Given the description of an element on the screen output the (x, y) to click on. 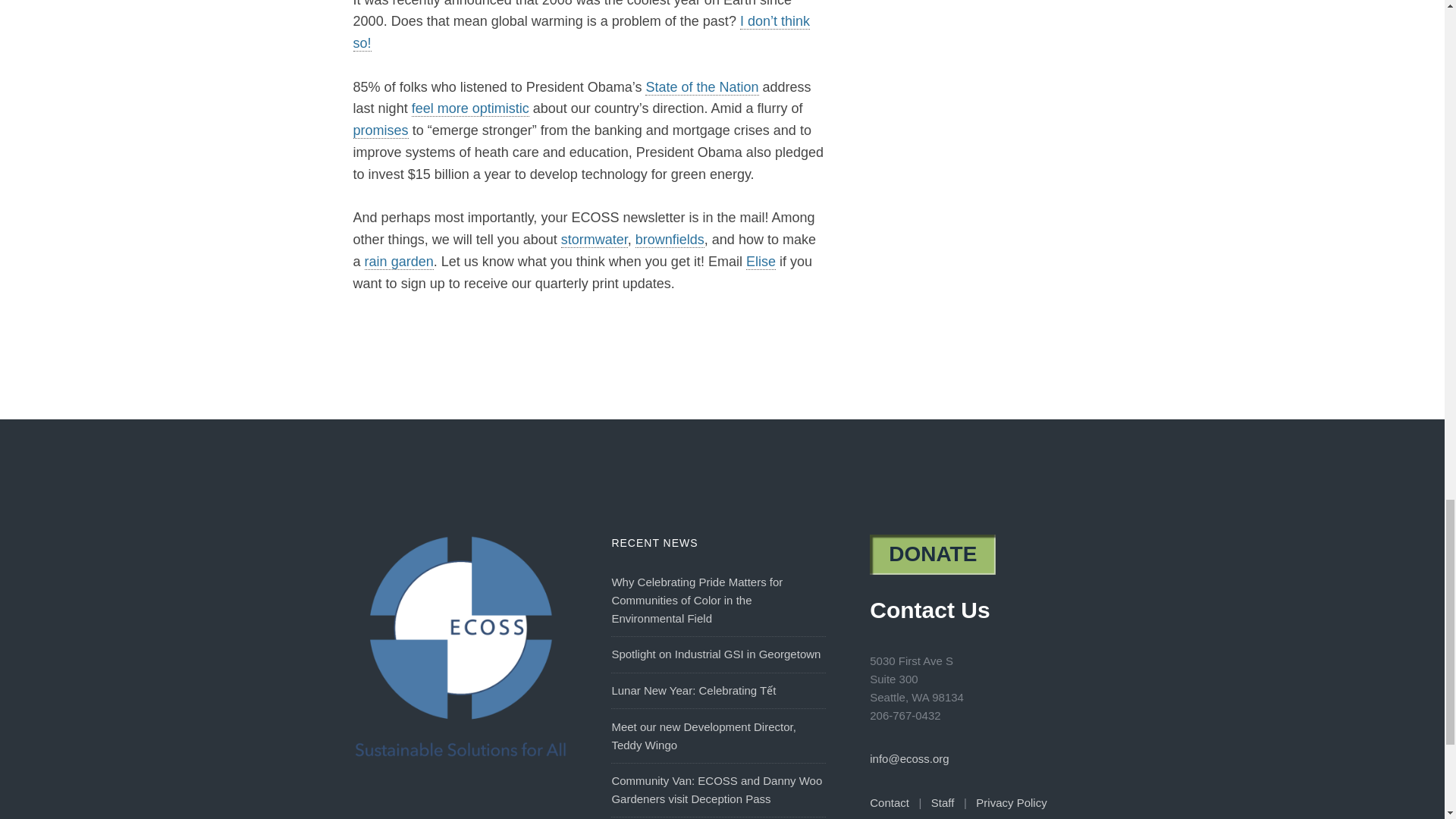
promises (381, 130)
brownfields (669, 239)
feel more optimistic (470, 108)
rain garden (399, 261)
stormwater (593, 239)
Elise (760, 261)
State of the Nation (701, 87)
